Given the description of an element on the screen output the (x, y) to click on. 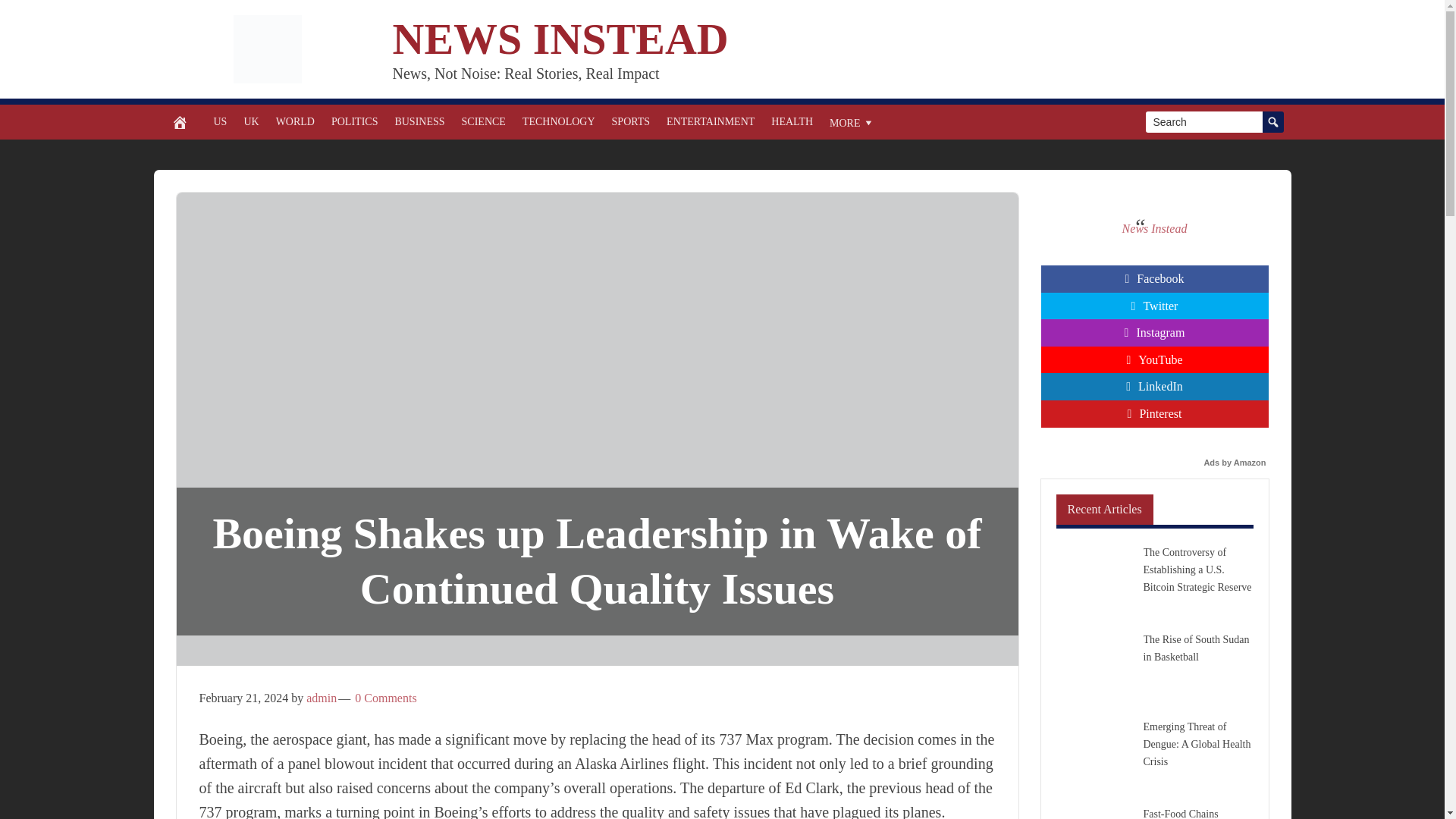
TECHNOLOGY (558, 121)
HEALTH (791, 121)
BUSINESS (418, 121)
NEWS INSTEAD (561, 38)
US (219, 121)
MORE (851, 121)
SCIENCE (482, 121)
UK (250, 121)
ENTERTAINMENT (710, 121)
WORLD (295, 121)
SPORTS (631, 121)
POLITICS (354, 121)
